Given the description of an element on the screen output the (x, y) to click on. 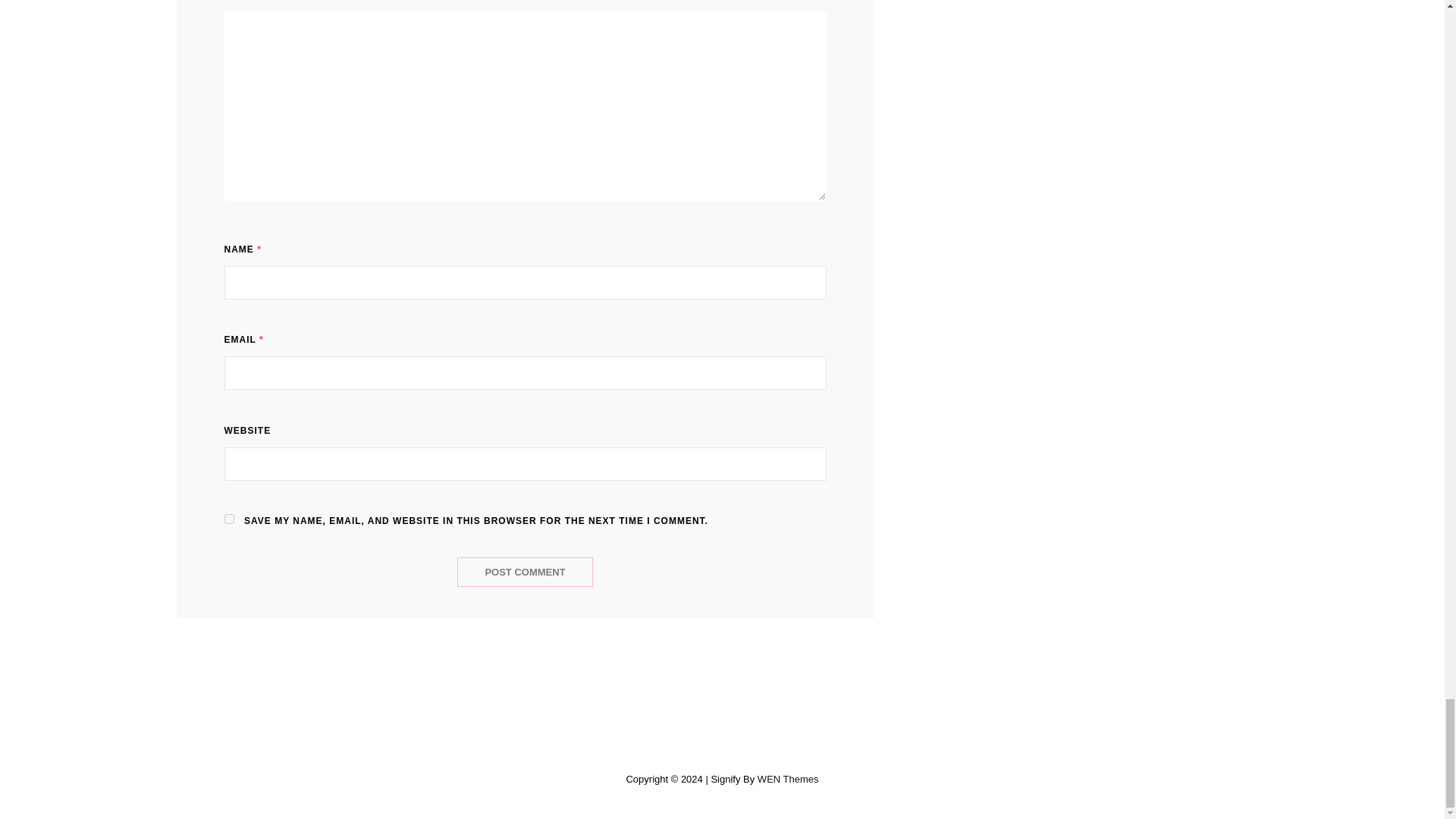
yes (229, 519)
Post Comment (524, 572)
Post Comment (524, 572)
